Given the description of an element on the screen output the (x, y) to click on. 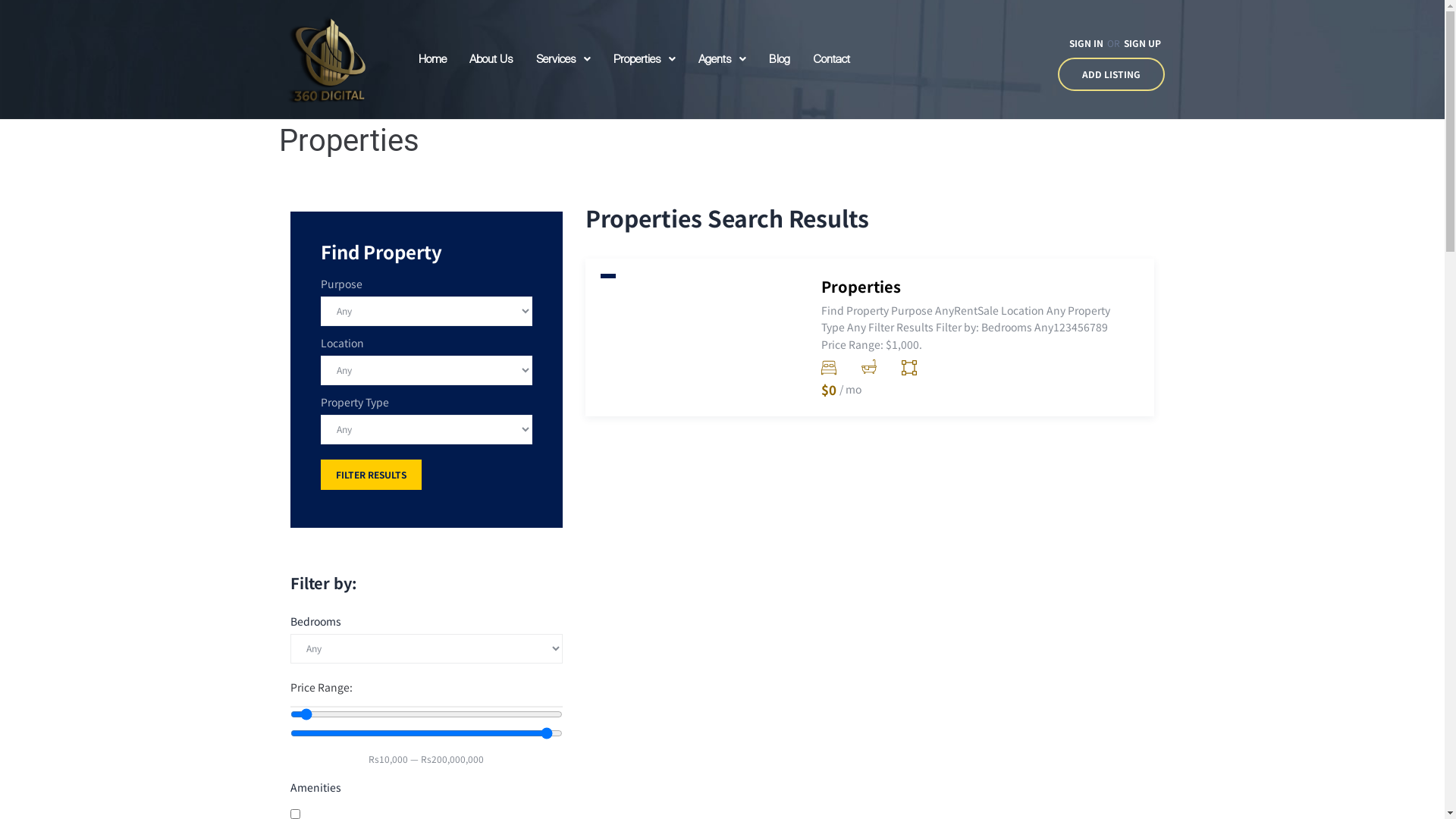
Agents Element type: text (722, 59)
Contact Element type: text (831, 59)
Home Element type: text (432, 59)
SIGN IN Element type: text (1086, 42)
FILTER RESULTS Element type: text (370, 474)
SIGN UP Element type: text (1142, 42)
Services Element type: text (563, 59)
Blog Element type: text (779, 59)
Properties Element type: text (644, 59)
About Us Element type: text (491, 59)
Properties Element type: text (860, 285)
ADD LISTING Element type: text (1110, 74)
